Given the description of an element on the screen output the (x, y) to click on. 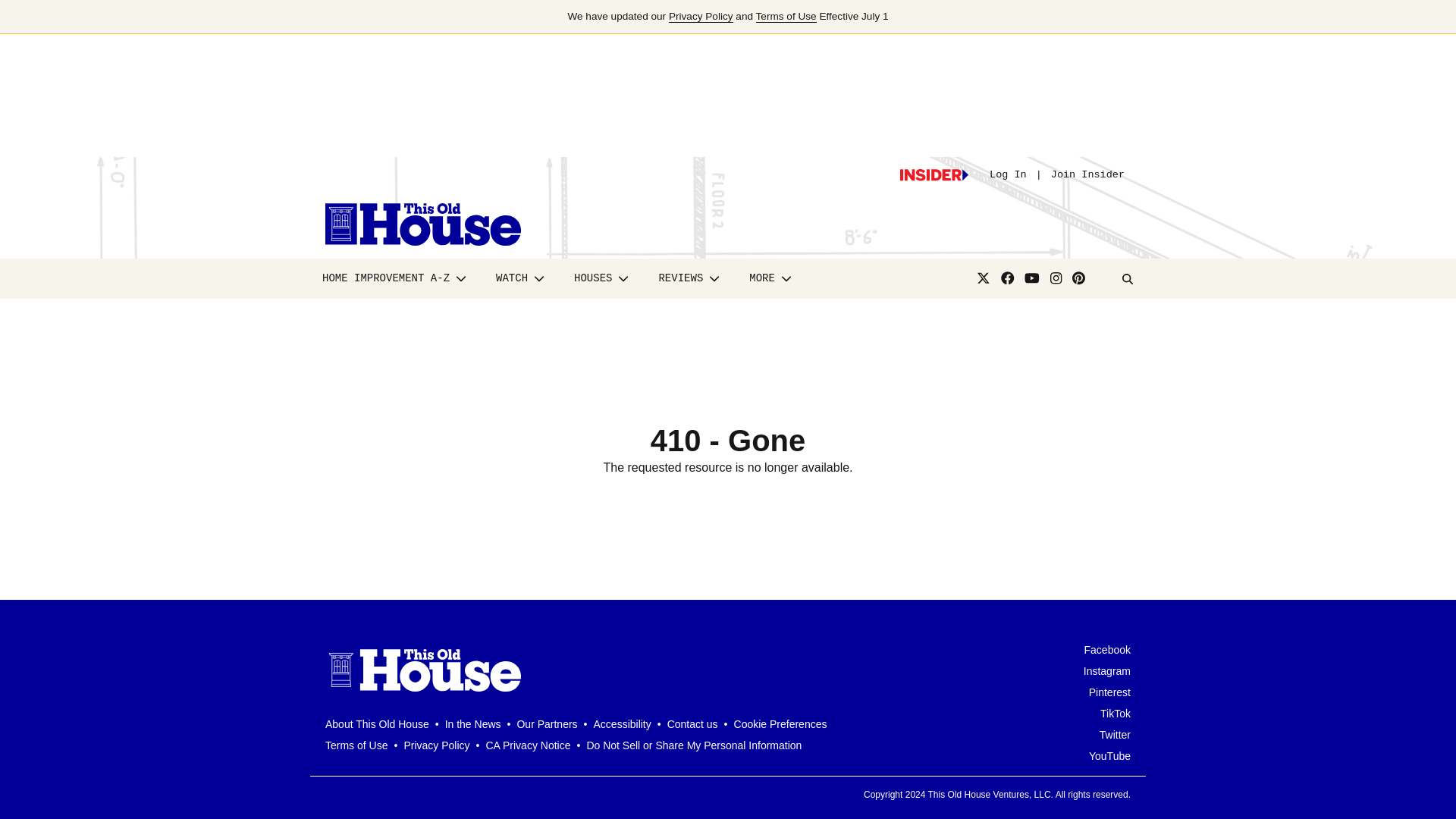
Log in or sign up (933, 174)
Terms of Use (785, 16)
Log In (1008, 174)
Join Insider (1087, 174)
Privacy Policy (700, 16)
